Given the description of an element on the screen output the (x, y) to click on. 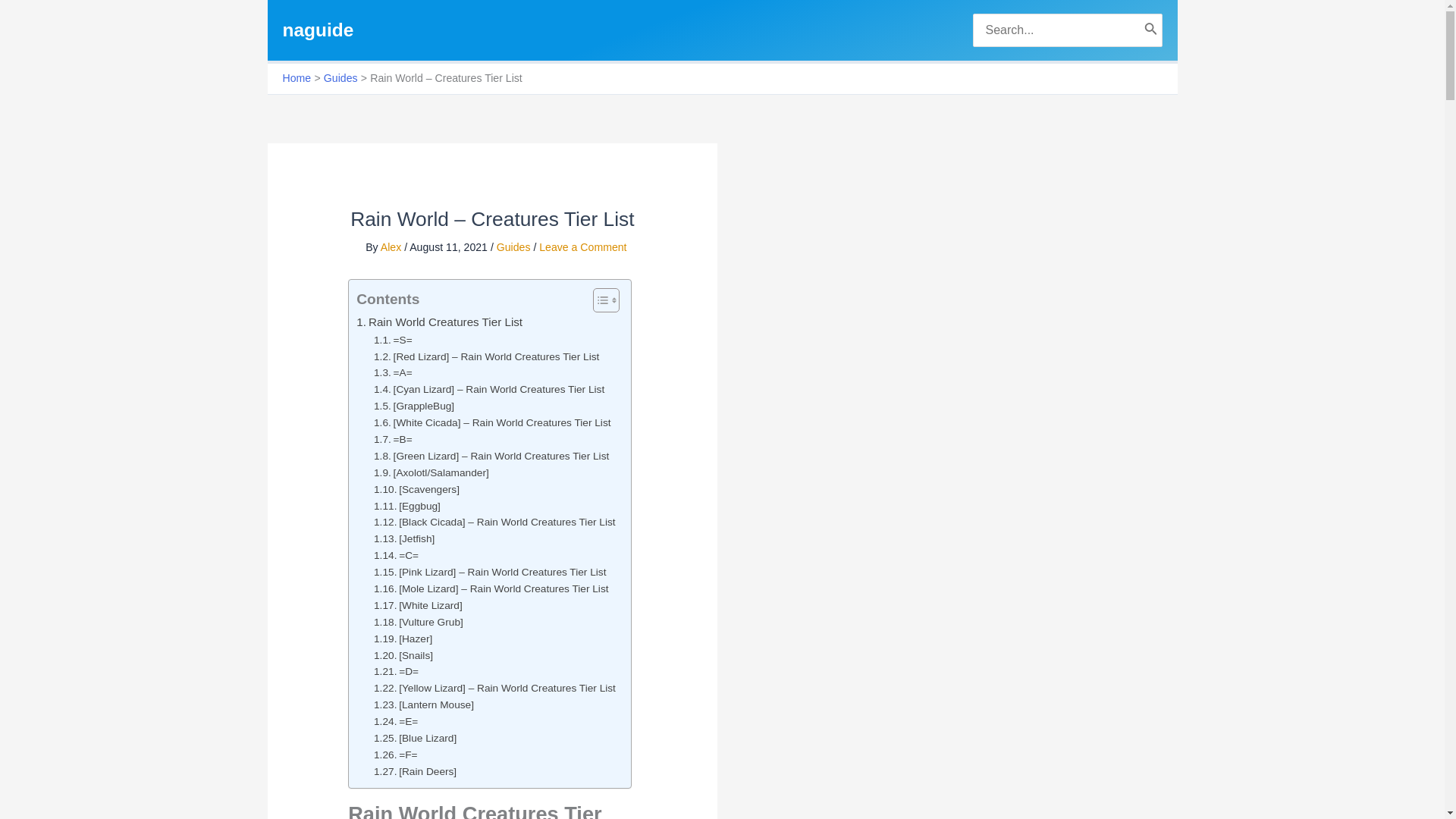
View all posts by Alex (392, 246)
Alex (392, 246)
Leave a Comment (582, 246)
Rain World Creatures Tier List (439, 321)
Rain World Creatures Tier List (439, 321)
naguide (317, 29)
Guides (340, 78)
Home (296, 78)
Guides (513, 246)
